Given the description of an element on the screen output the (x, y) to click on. 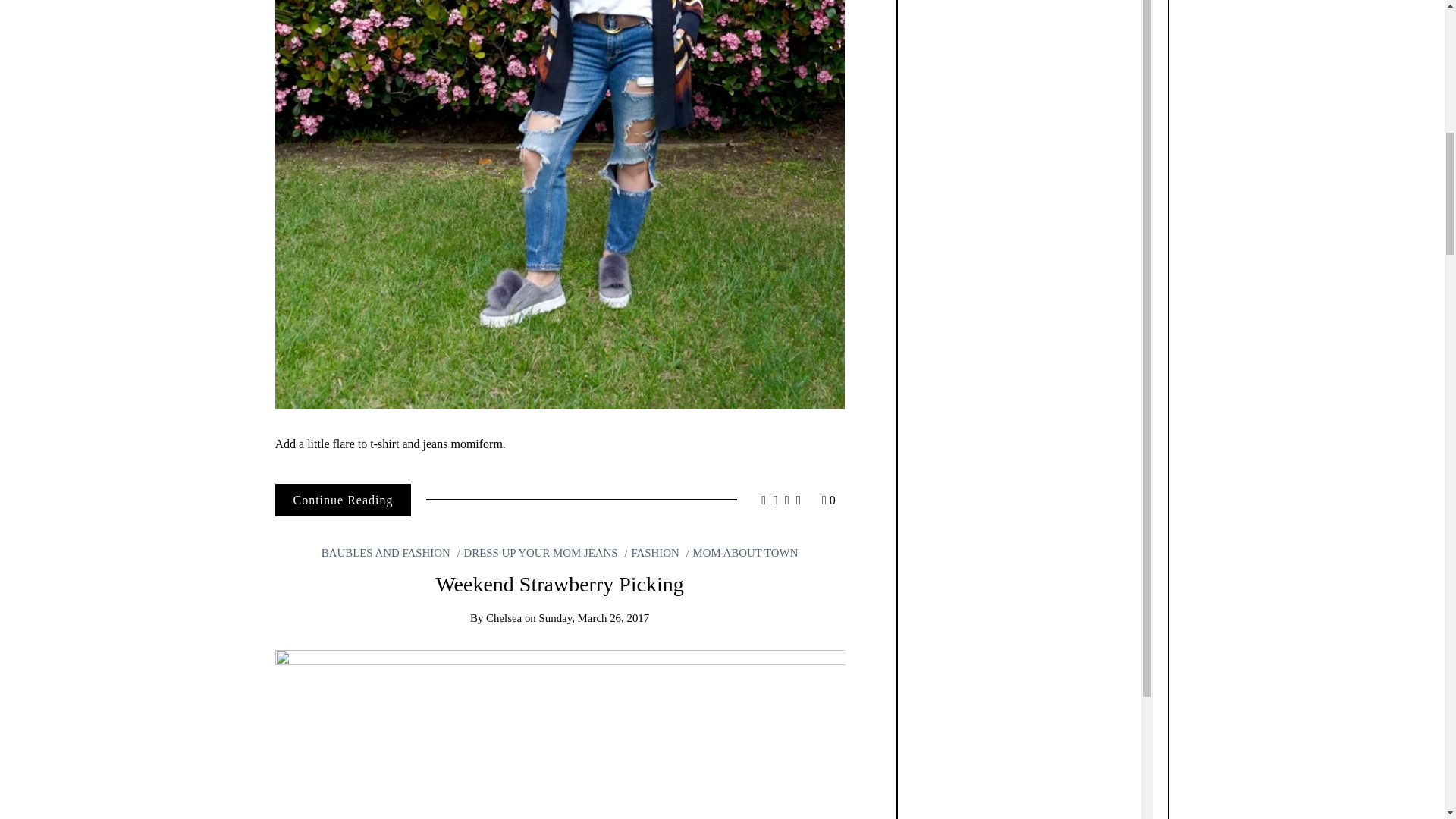
Posts by Chelsea (503, 617)
MOM ABOUT TOWN (741, 552)
0 (828, 499)
DRESS UP YOUR MOM JEANS (537, 552)
Weekend Strawberry Picking (558, 584)
BAUBLES AND FASHION (385, 552)
Sunday, March 26, 2017 (593, 617)
Chelsea (503, 617)
FASHION (651, 552)
Continue Reading (342, 500)
